Given the description of an element on the screen output the (x, y) to click on. 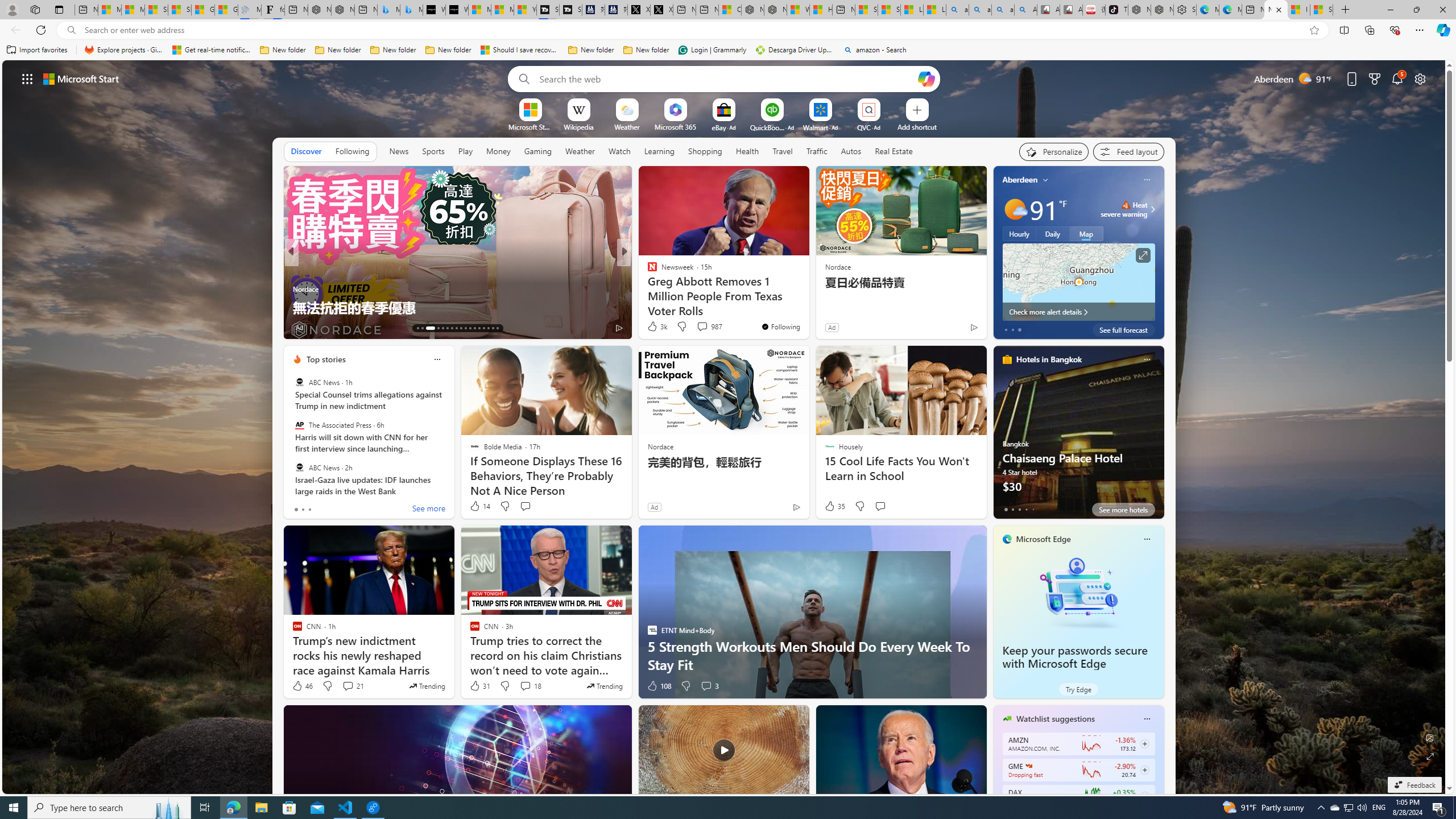
Class: control (27, 78)
Autos (850, 151)
Class: icon-img (1146, 718)
GAMESTOP CORP. (1028, 765)
You're following Newsweek (780, 326)
You're following FOX News (949, 329)
Learning (659, 151)
Check more alert details (1077, 311)
Keep your passwords secure with Microsoft Edge (1074, 657)
tab-2 (1019, 509)
View comments 18 Comment (525, 685)
